Given the description of an element on the screen output the (x, y) to click on. 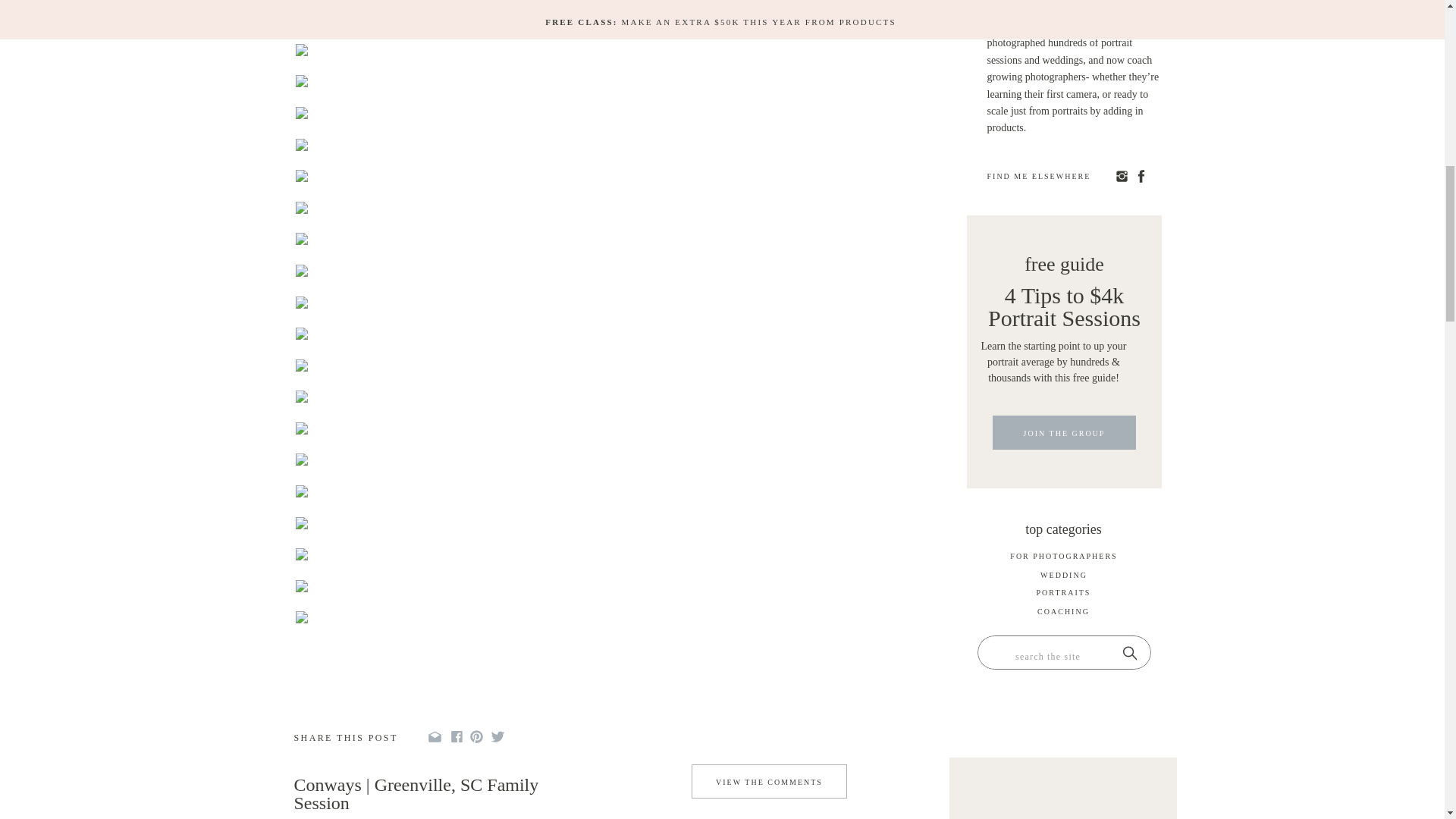
free guide (1063, 260)
COACHING (1063, 614)
WEDDING (1064, 577)
PORTRAITS (1063, 595)
VIEW THE COMMENTS (768, 784)
JOIN THE GROUP (1063, 436)
FOR PHOTOGRAPHERS (1063, 558)
